Given the description of an element on the screen output the (x, y) to click on. 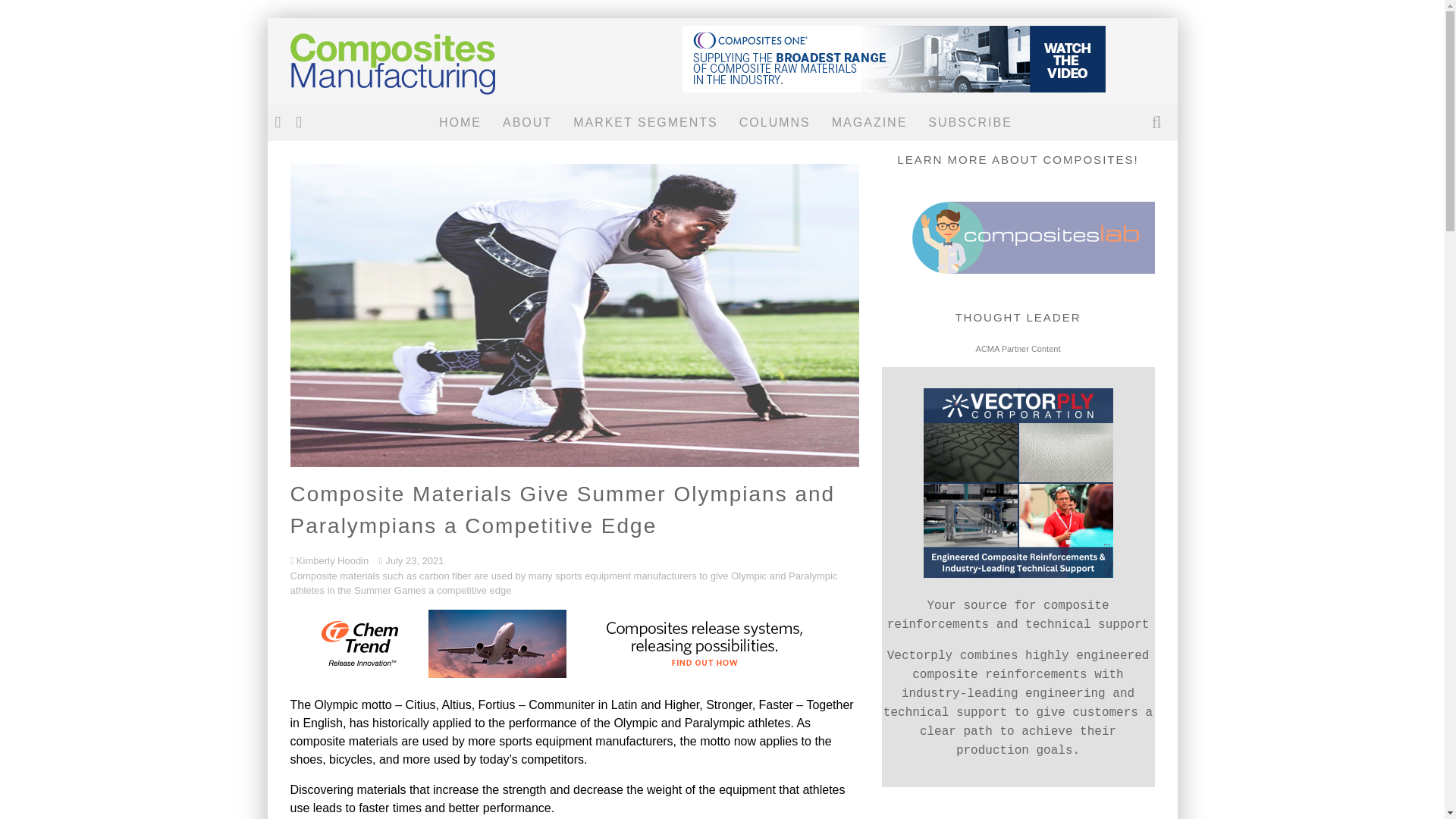
MARKET SEGMENTS (645, 122)
MAGAZINE (869, 122)
HOME (460, 122)
COLUMNS (775, 122)
ABOUT (527, 122)
compositesLab-composites-101 (1017, 268)
Search (1158, 122)
